Given the description of an element on the screen output the (x, y) to click on. 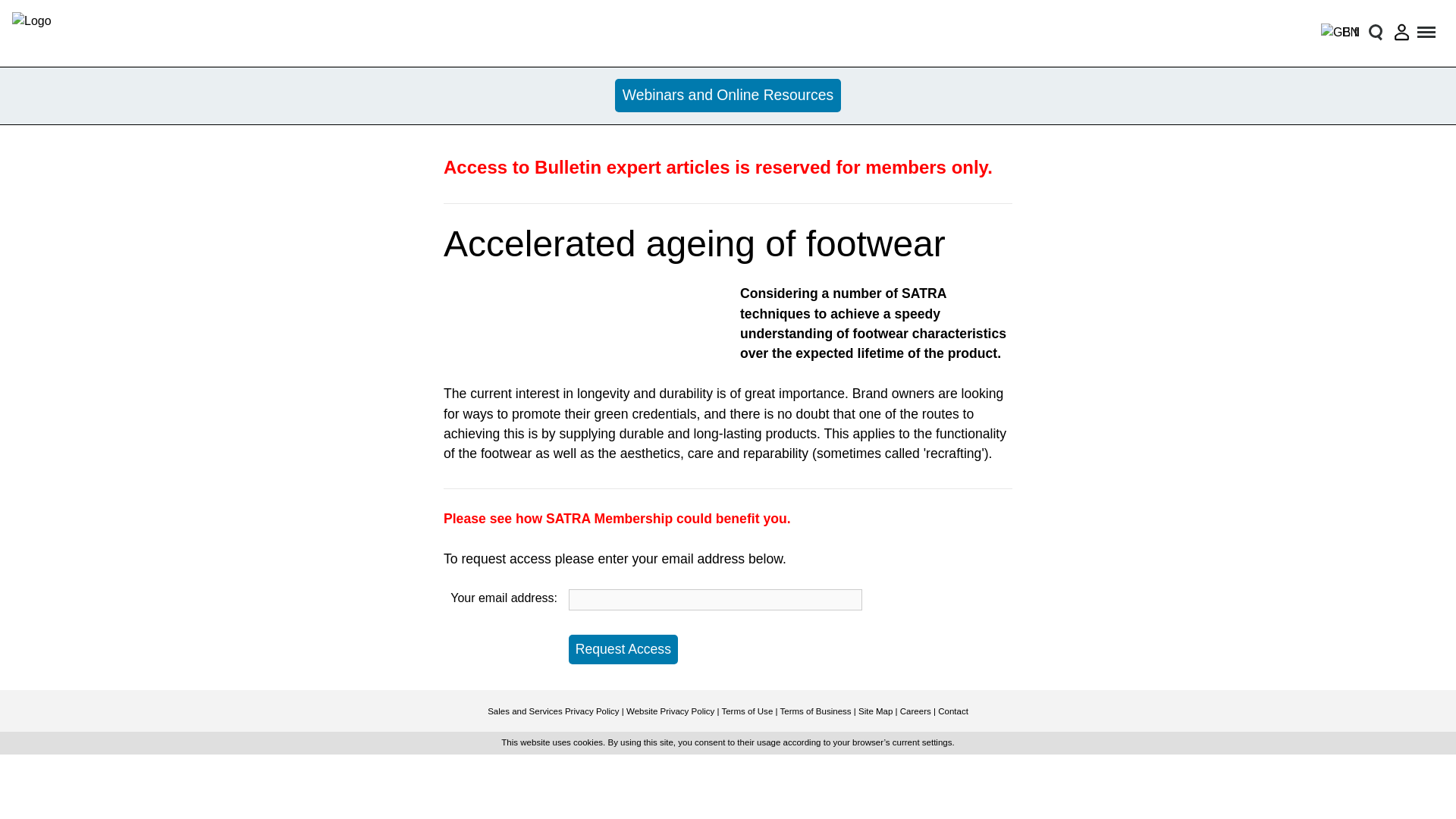
Change language (1335, 32)
SATRA Membership (609, 518)
Webinars and Online Resources (727, 95)
Search this site (1374, 32)
Navigation menu (1427, 32)
EN (1335, 32)
Request Access (623, 649)
